Given the description of an element on the screen output the (x, y) to click on. 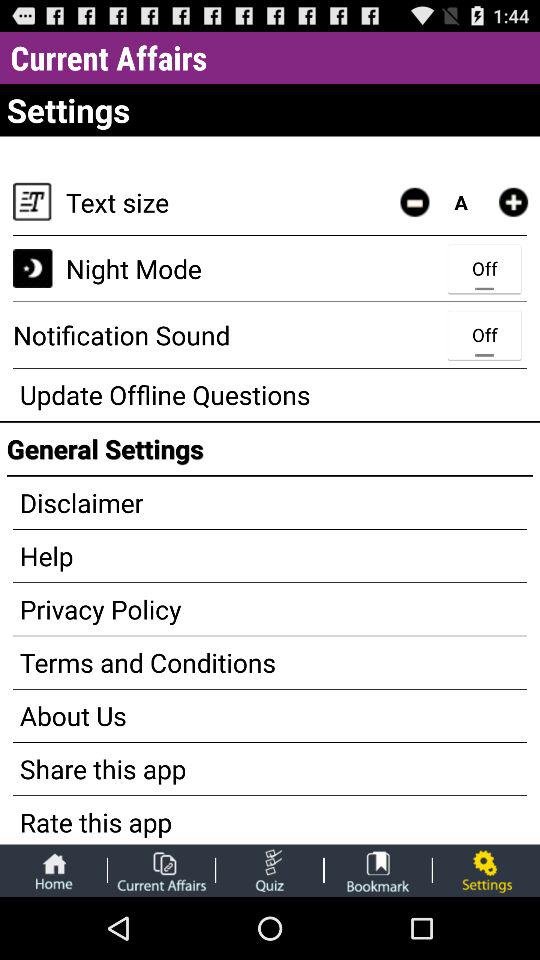
settings (486, 870)
